Given the description of an element on the screen output the (x, y) to click on. 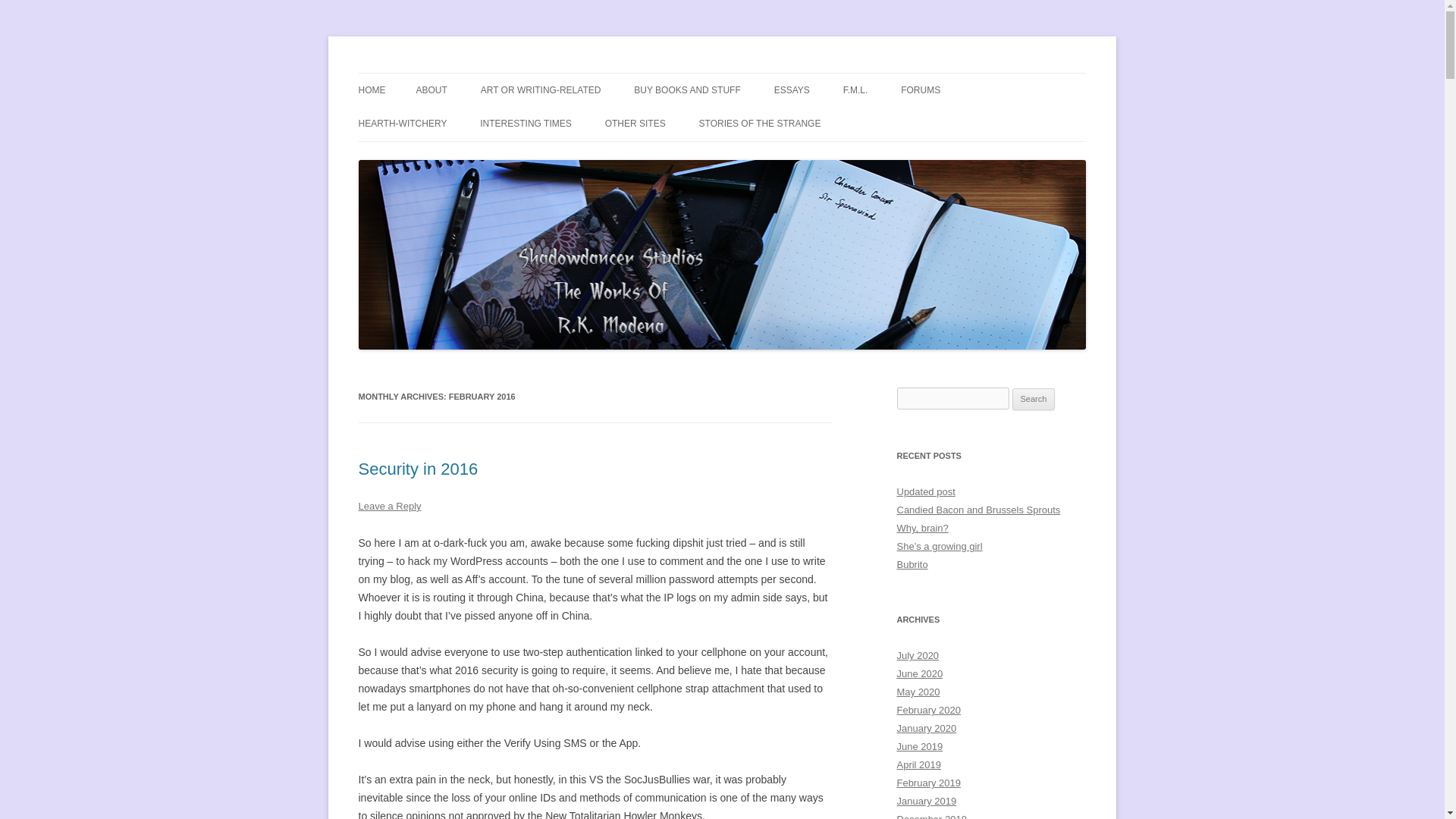
Security in 2016 (417, 468)
STORIES OF THE STRANGE (759, 123)
Leave a Reply (389, 505)
INTERESTING TIMES (525, 123)
Search (1033, 399)
HEARTH-WITCHERY (402, 123)
BUY BOOKS AND STUFF (686, 90)
ART OR WRITING-RELATED (540, 90)
OTHER SITES (635, 123)
